Given the description of an element on the screen output the (x, y) to click on. 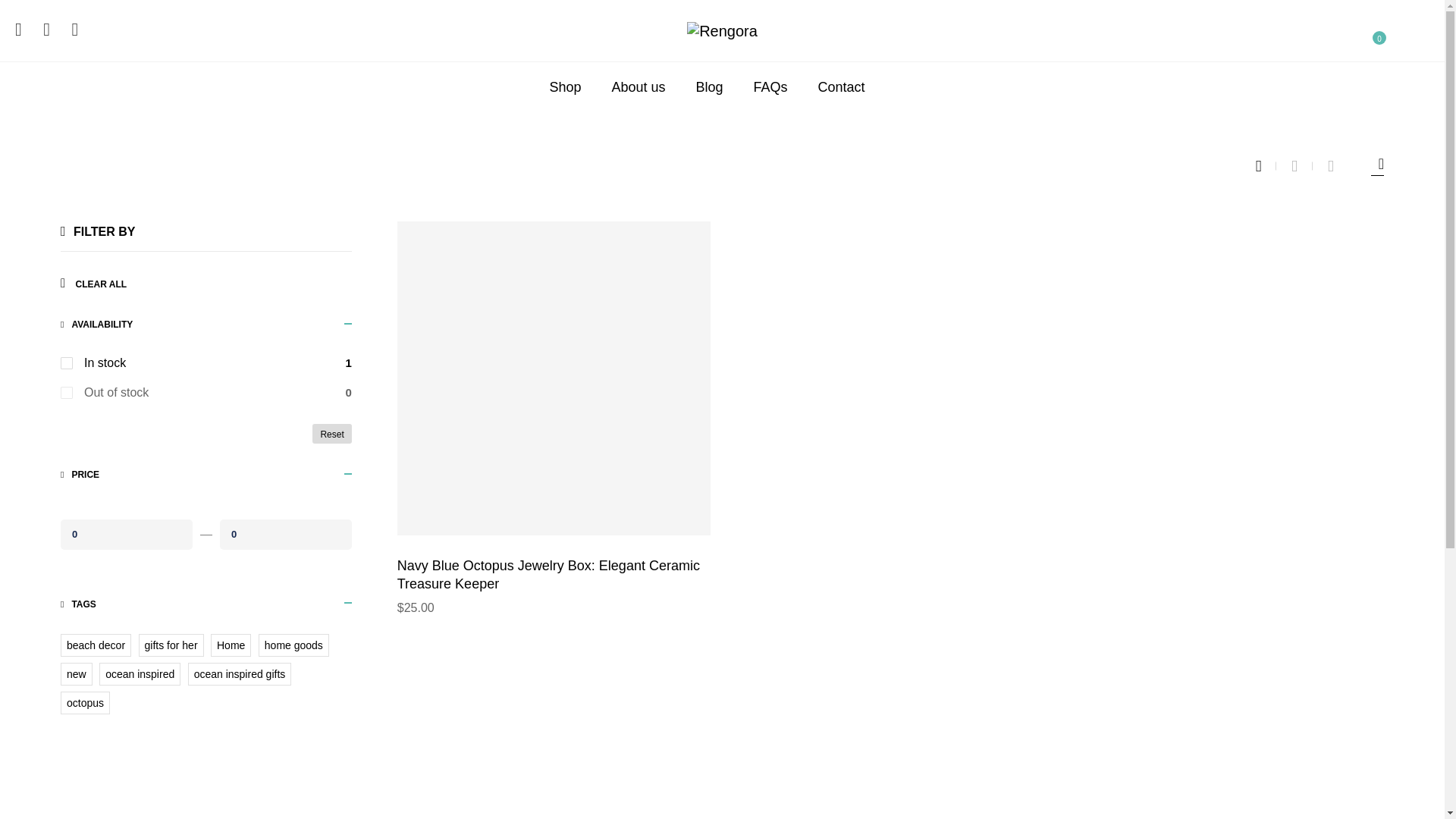
0 (285, 533)
Grid View 3 (1265, 166)
Show products matching tag ocean inspired (139, 673)
Shop (564, 86)
Blog (709, 87)
Grid View 2 (1302, 166)
Show products matching tag gifts for her (170, 644)
Contact (841, 87)
FAQs (770, 87)
Show products matching tag beach decor (96, 644)
